Given the description of an element on the screen output the (x, y) to click on. 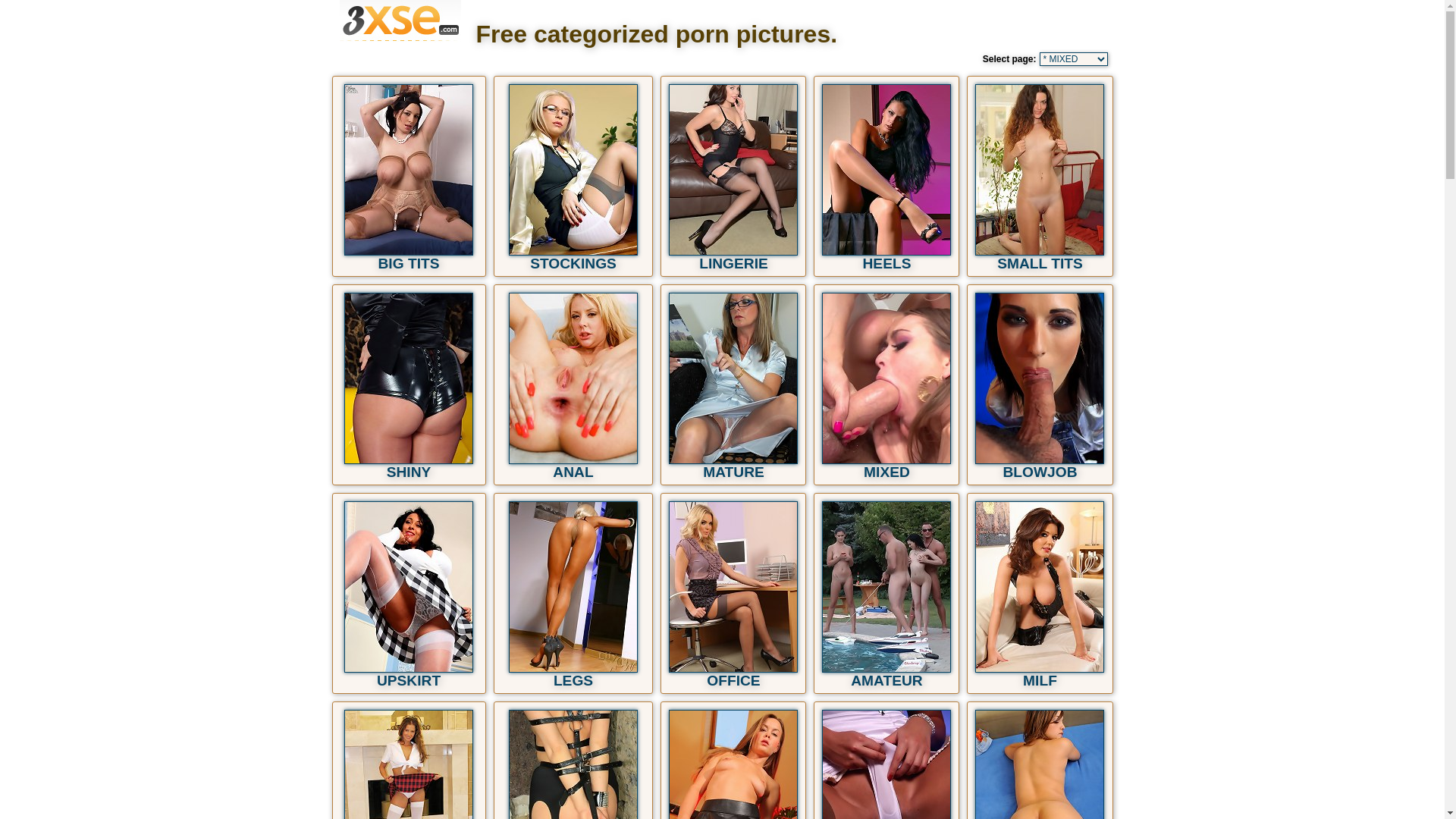
MATURE Element type: text (733, 472)
UPSKIRT Element type: text (408, 680)
BIG TITS Element type: text (408, 263)
SMALL TITS Element type: text (1039, 263)
LEGS Element type: text (573, 680)
SHINY Element type: text (408, 472)
MILF Element type: text (1039, 680)
BLOWJOB Element type: text (1039, 472)
AMATEUR Element type: text (886, 680)
STOCKINGS Element type: text (573, 263)
ANAL Element type: text (572, 472)
MIXED Element type: text (886, 472)
LINGERIE Element type: text (733, 263)
OFFICE Element type: text (732, 680)
HEELS Element type: text (886, 263)
